Given the description of an element on the screen output the (x, y) to click on. 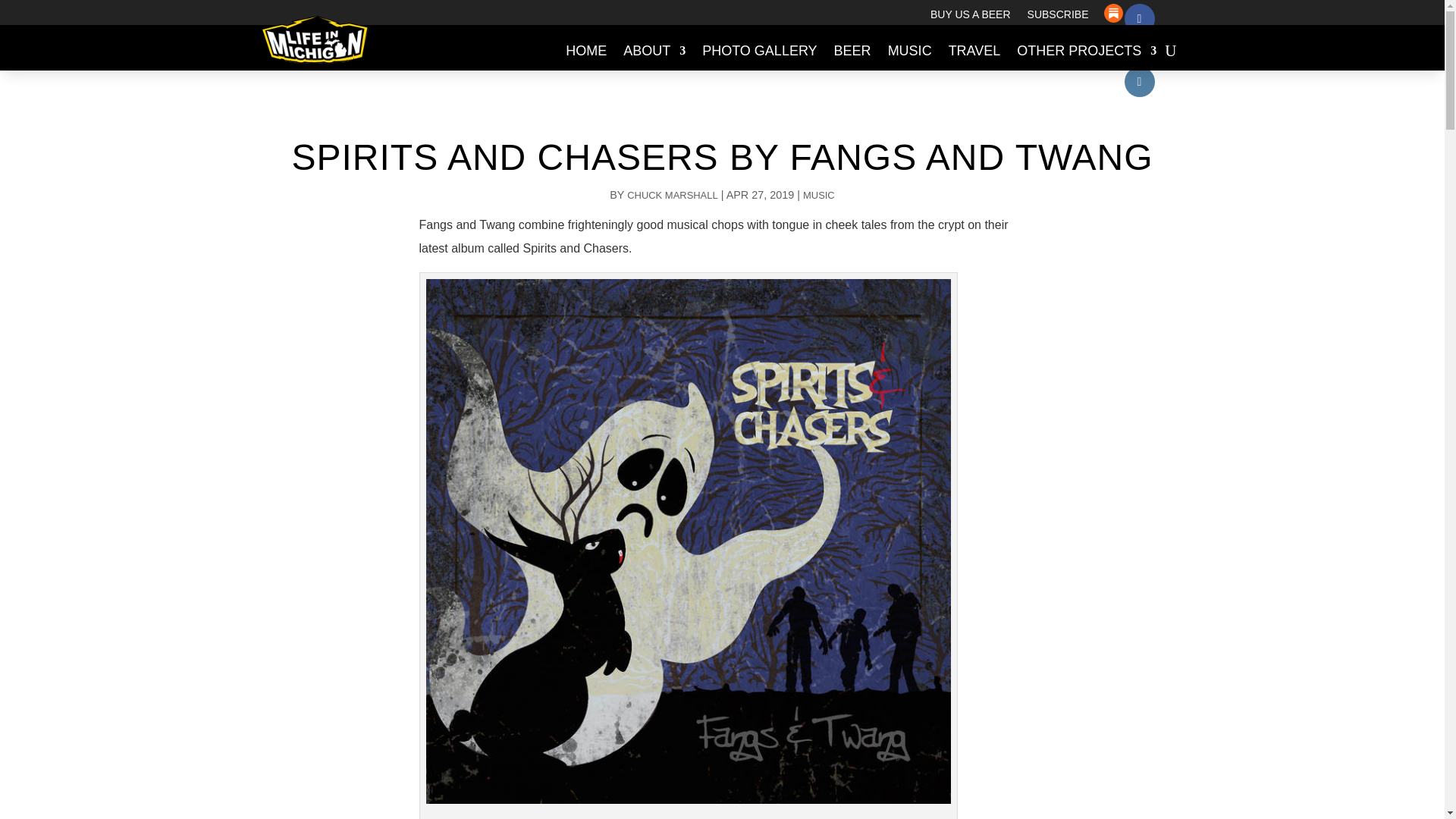
BUY US A BEER (970, 17)
OTHER PROJECTS (1086, 50)
PHOTO GALLERY (758, 50)
TRAVEL (975, 50)
ABOUT (654, 50)
SUBSCRIBE (1058, 17)
MUSIC (818, 194)
CHUCK MARSHALL (672, 194)
Posts by Chuck Marshall (672, 194)
